Given the description of an element on the screen output the (x, y) to click on. 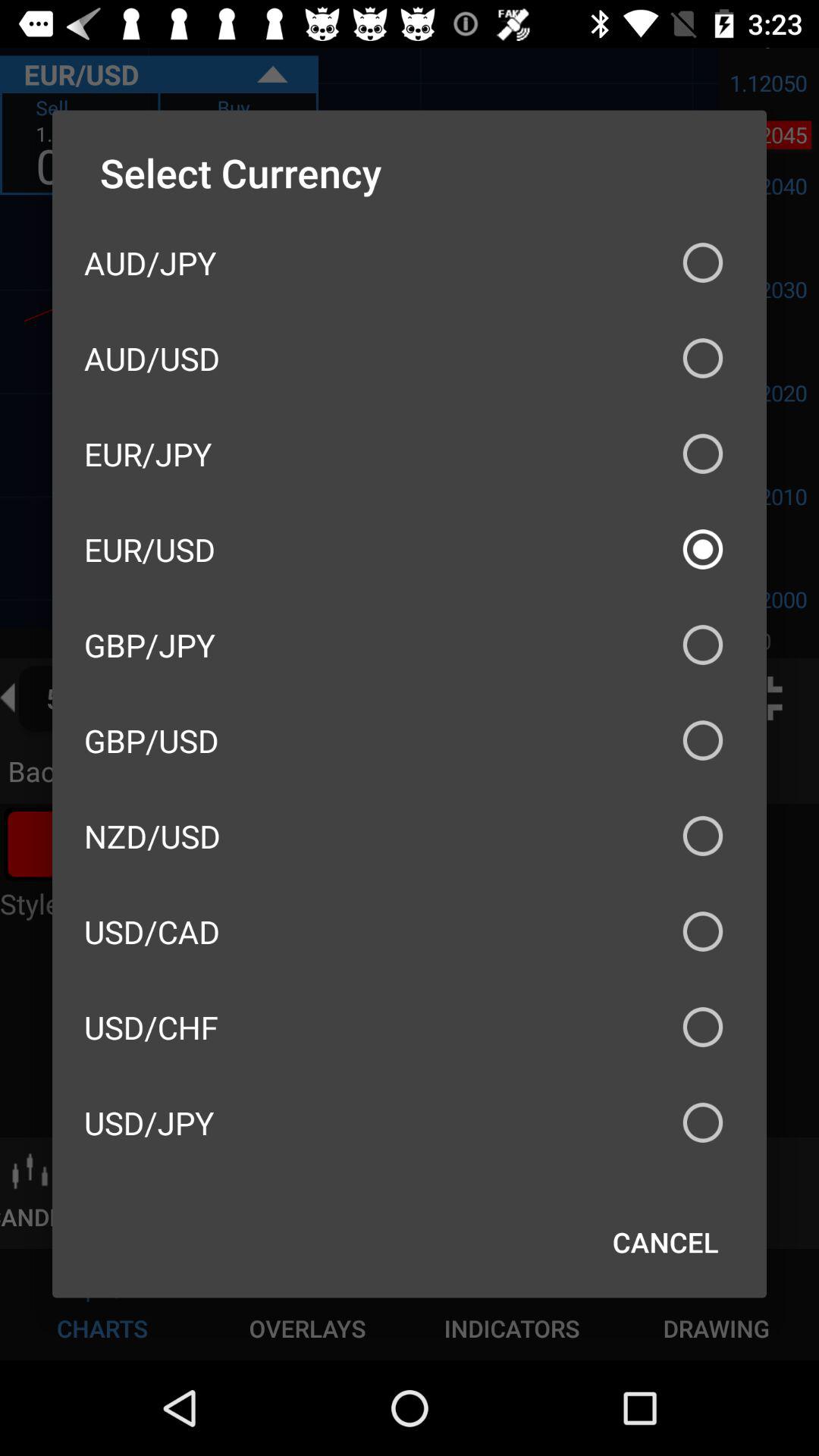
launch icon below the usd/jpy icon (665, 1241)
